Given the description of an element on the screen output the (x, y) to click on. 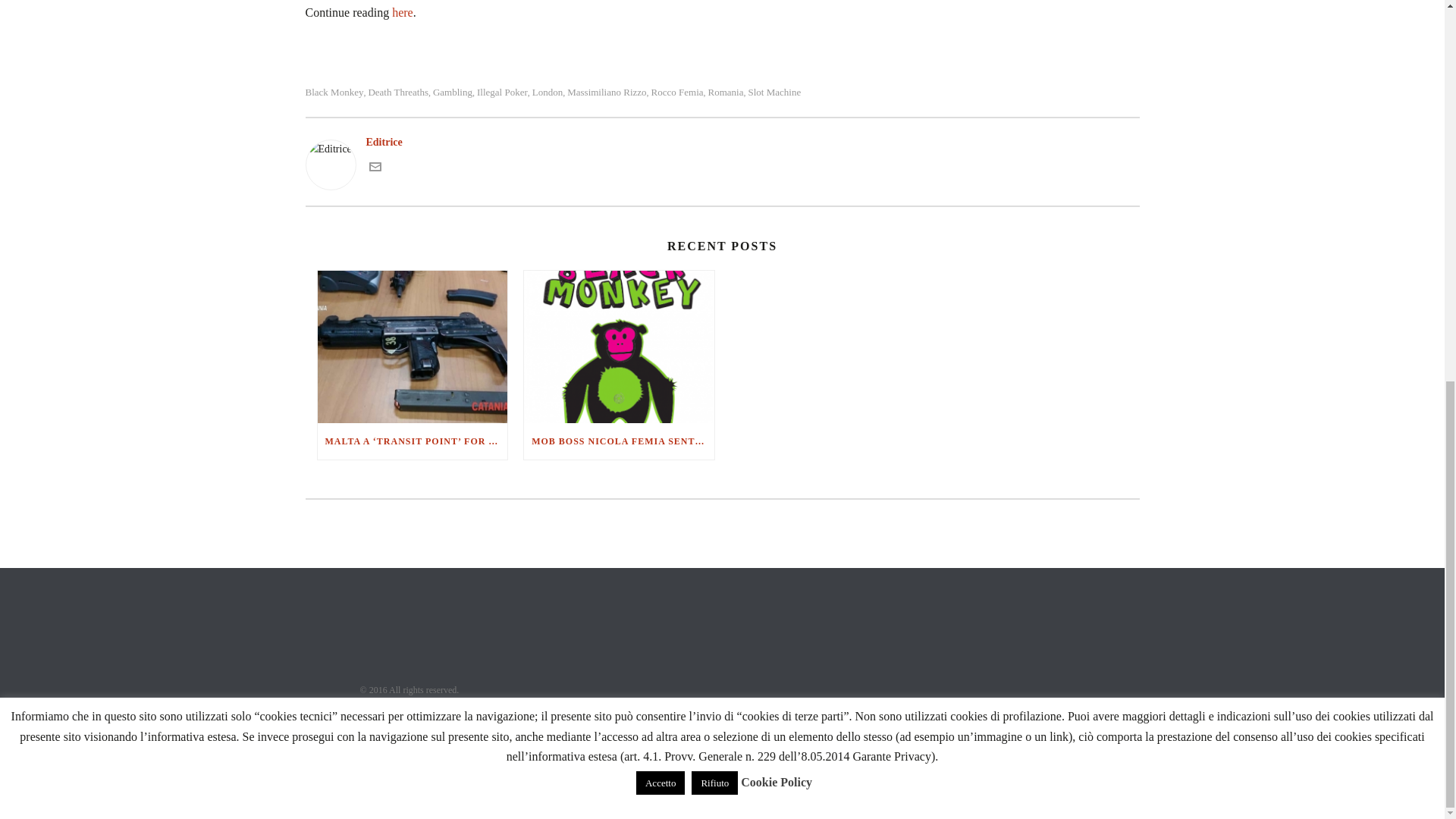
Death Threaths (398, 91)
Black Monkey (333, 91)
Get in touch with me via email (374, 166)
Gambling (451, 91)
London (547, 91)
here (402, 11)
Illegal Poker (502, 91)
